Given the description of an element on the screen output the (x, y) to click on. 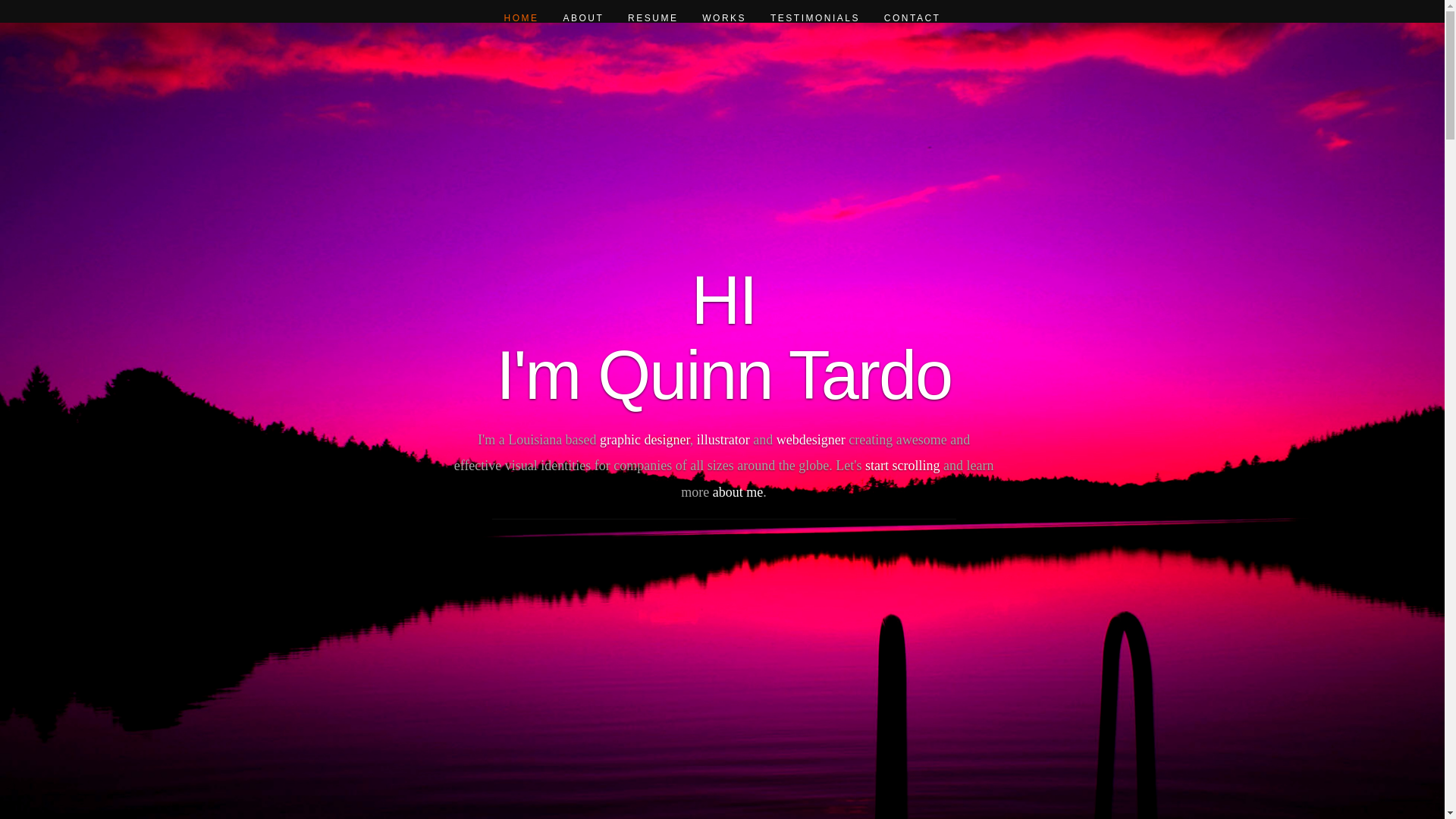
CONTACT (912, 18)
RESUME (652, 18)
ABOUT (582, 18)
WORKS (724, 18)
about me (737, 491)
TESTIMONIALS (814, 18)
start scrolling (901, 465)
RESUME (652, 18)
HOME (521, 18)
start scrolling (901, 465)
about me (737, 491)
TESTIMONIALS (814, 18)
HOME (521, 18)
